Given the description of an element on the screen output the (x, y) to click on. 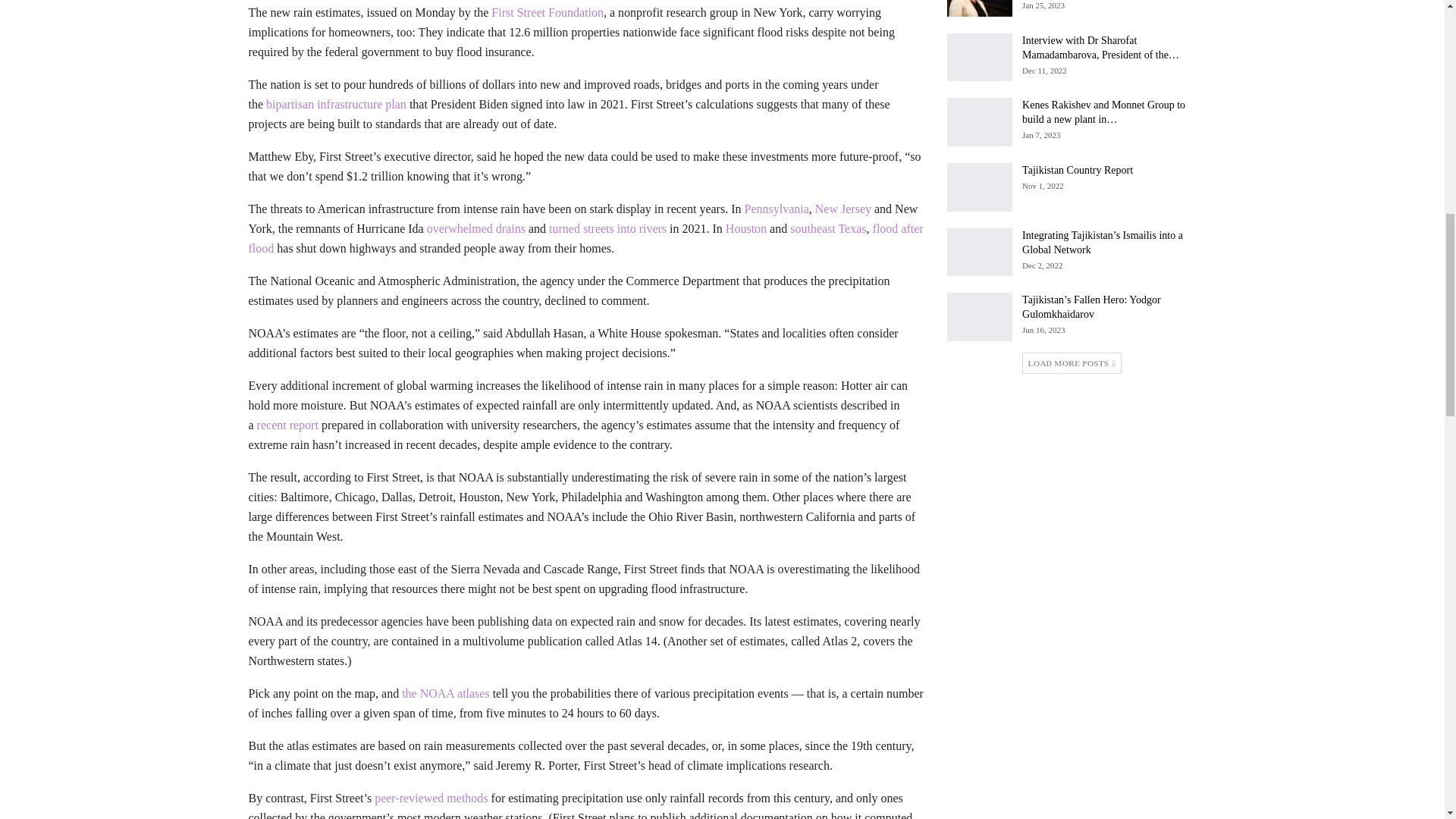
Tajikistan to stop repressing human rights defenders (979, 8)
